Given the description of an element on the screen output the (x, y) to click on. 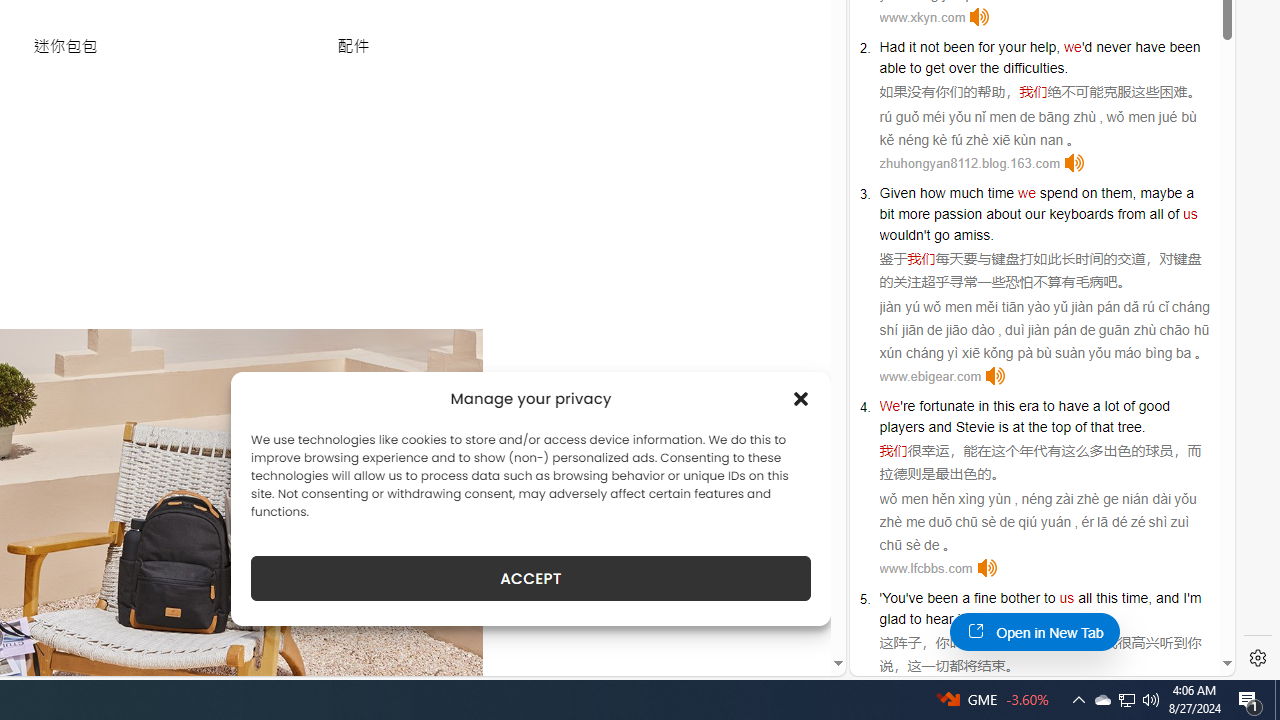
more (914, 213)
help (1043, 46)
have (1073, 405)
top (1060, 426)
lot (1111, 405)
glad (892, 619)
we (1026, 192)
www.lfcbbs.com (925, 568)
